Given the description of an element on the screen output the (x, y) to click on. 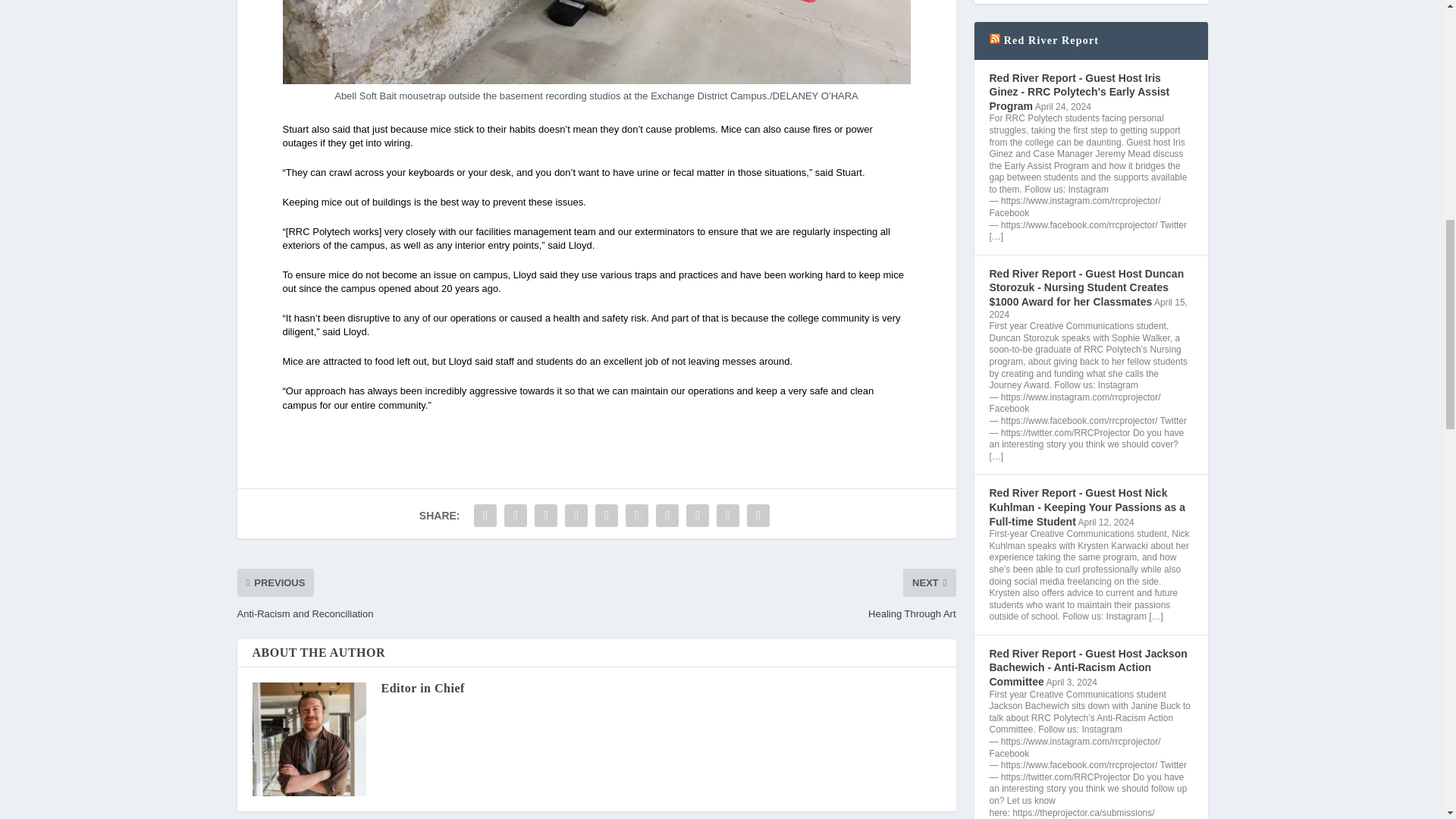
Share "Managing Mice" via Twitter (515, 515)
Share "Managing Mice" via LinkedIn (636, 515)
Editor in Chief (422, 687)
Share "Managing Mice" via Print (757, 515)
Share "Managing Mice" via Buffer (667, 515)
Share "Managing Mice" via Email (727, 515)
Share "Managing Mice" via Stumbleupon (697, 515)
View all posts by Editor in Chief (422, 687)
Share "Managing Mice" via Tumblr (575, 515)
Share "Managing Mice" via Facebook (485, 515)
Share "Managing Mice" via Pinterest (606, 515)
